Given the description of an element on the screen output the (x, y) to click on. 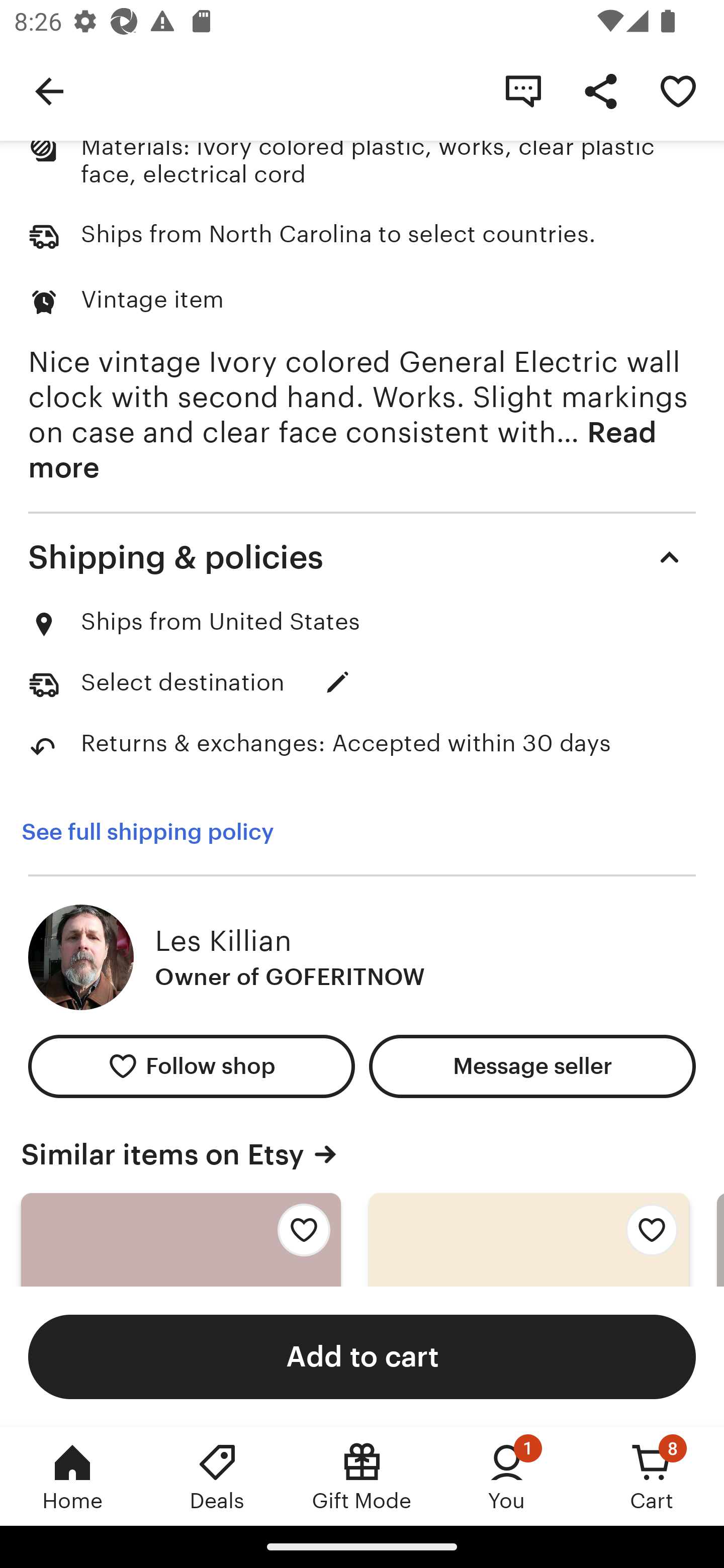
Navigate up (49, 90)
Contact shop (523, 90)
Share (600, 90)
Remove Vintage GE Wall Clock from your favorites (678, 90)
Shipping & policies (362, 557)
Update (337, 681)
See full shipping policy (147, 832)
Follow shop Follow GOFERITNOW (191, 1065)
Message seller (532, 1065)
Similar items on Etsy  (362, 1154)
Add to cart (361, 1355)
Deals (216, 1475)
Gift Mode (361, 1475)
You, 1 new notification You (506, 1475)
Cart, 8 new notifications Cart (651, 1475)
